Given the description of an element on the screen output the (x, y) to click on. 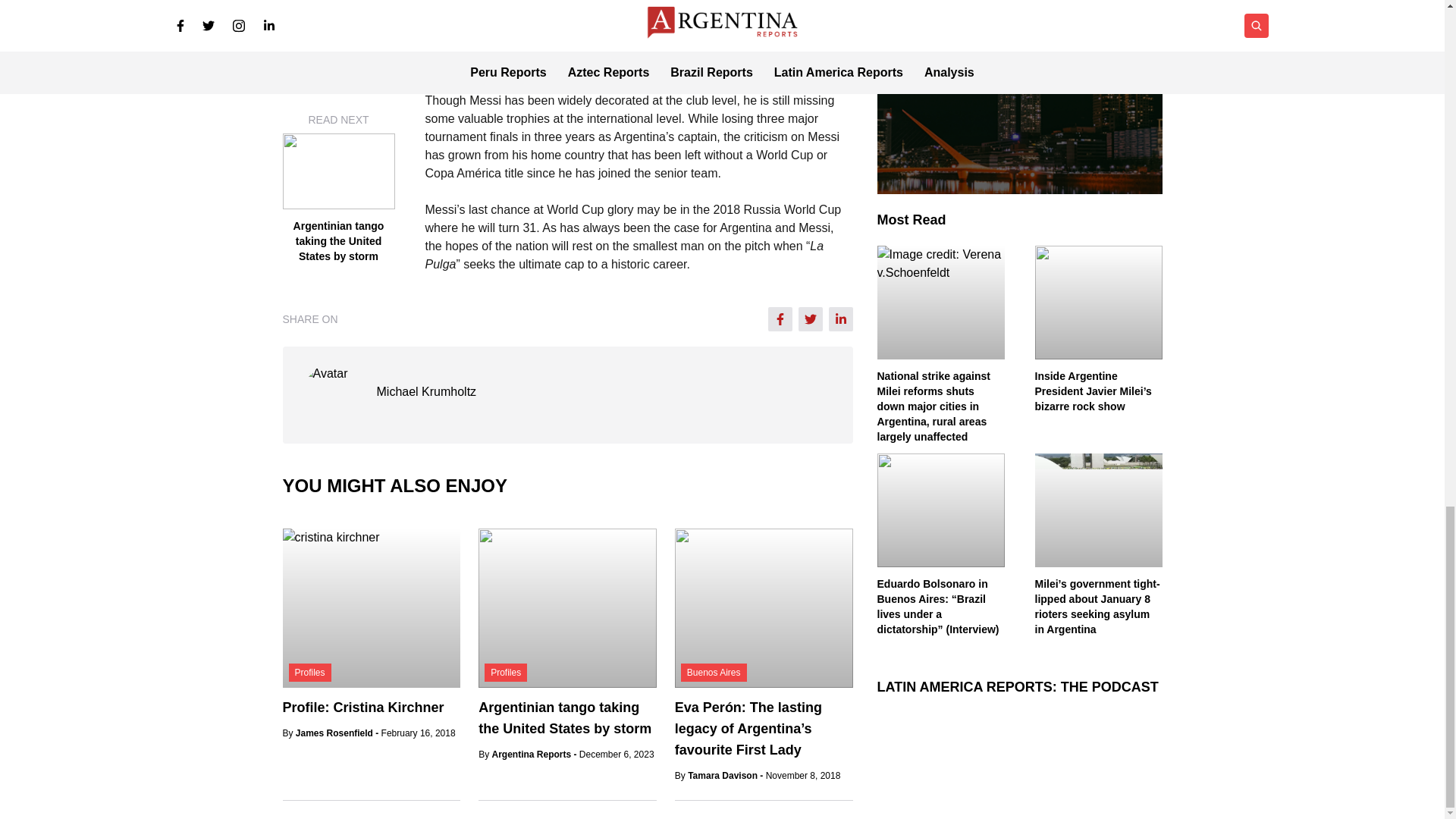
James Rosenfield - (338, 733)
Profiles (309, 672)
Profile: Cristina Kirchner (363, 707)
Profiles (505, 672)
Argentinian tango taking the United States by storm (564, 718)
Argentina Reports - (535, 754)
Michael Krumholtz (425, 392)
